Given the description of an element on the screen output the (x, y) to click on. 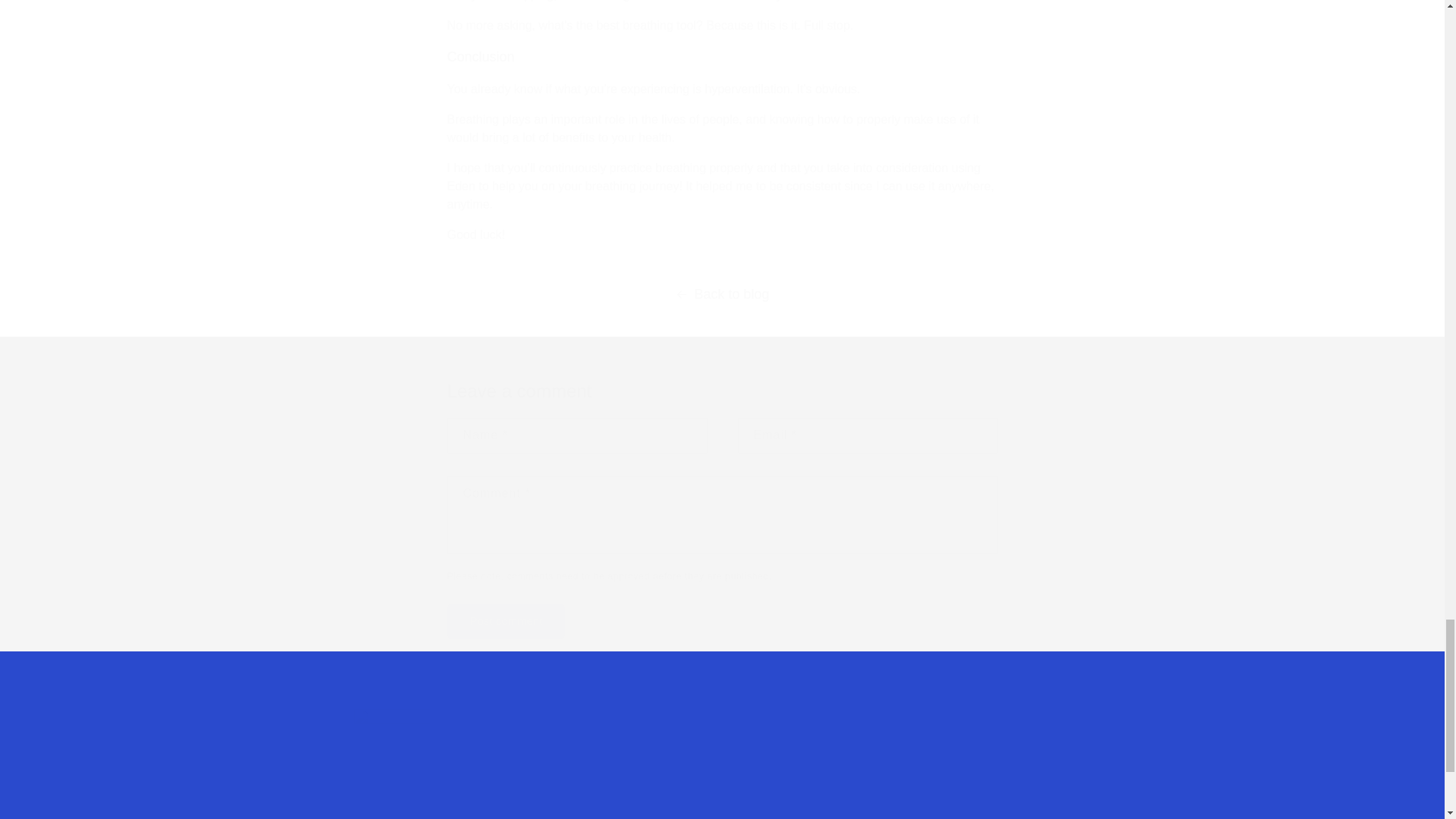
Post comment (1051, 764)
Post comment (506, 621)
ABOUT US (721, 764)
HOW IT WORKS (506, 621)
SHOP (588, 778)
